Given the description of an element on the screen output the (x, y) to click on. 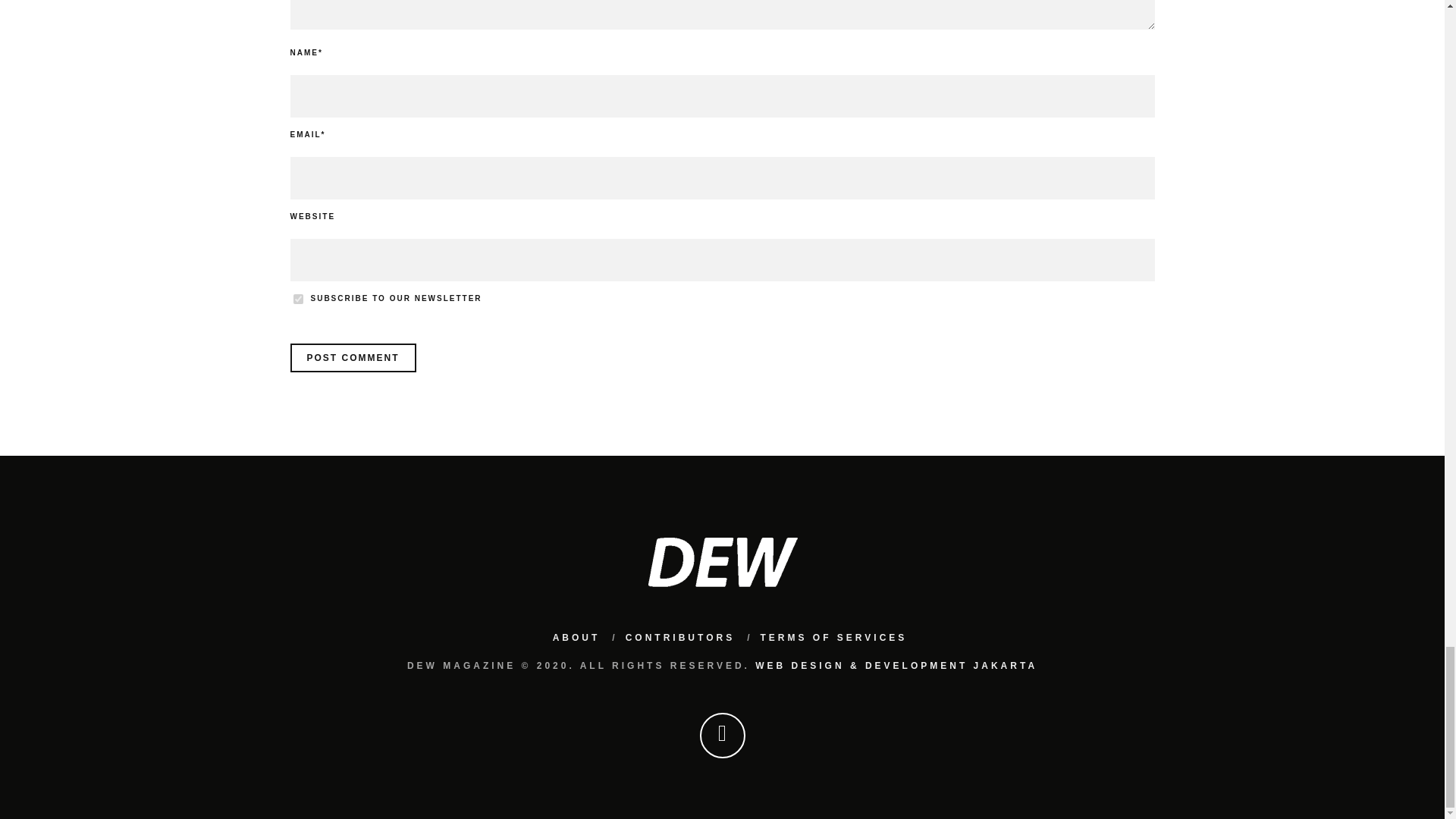
Post Comment (351, 357)
1 (297, 298)
